Given the description of an element on the screen output the (x, y) to click on. 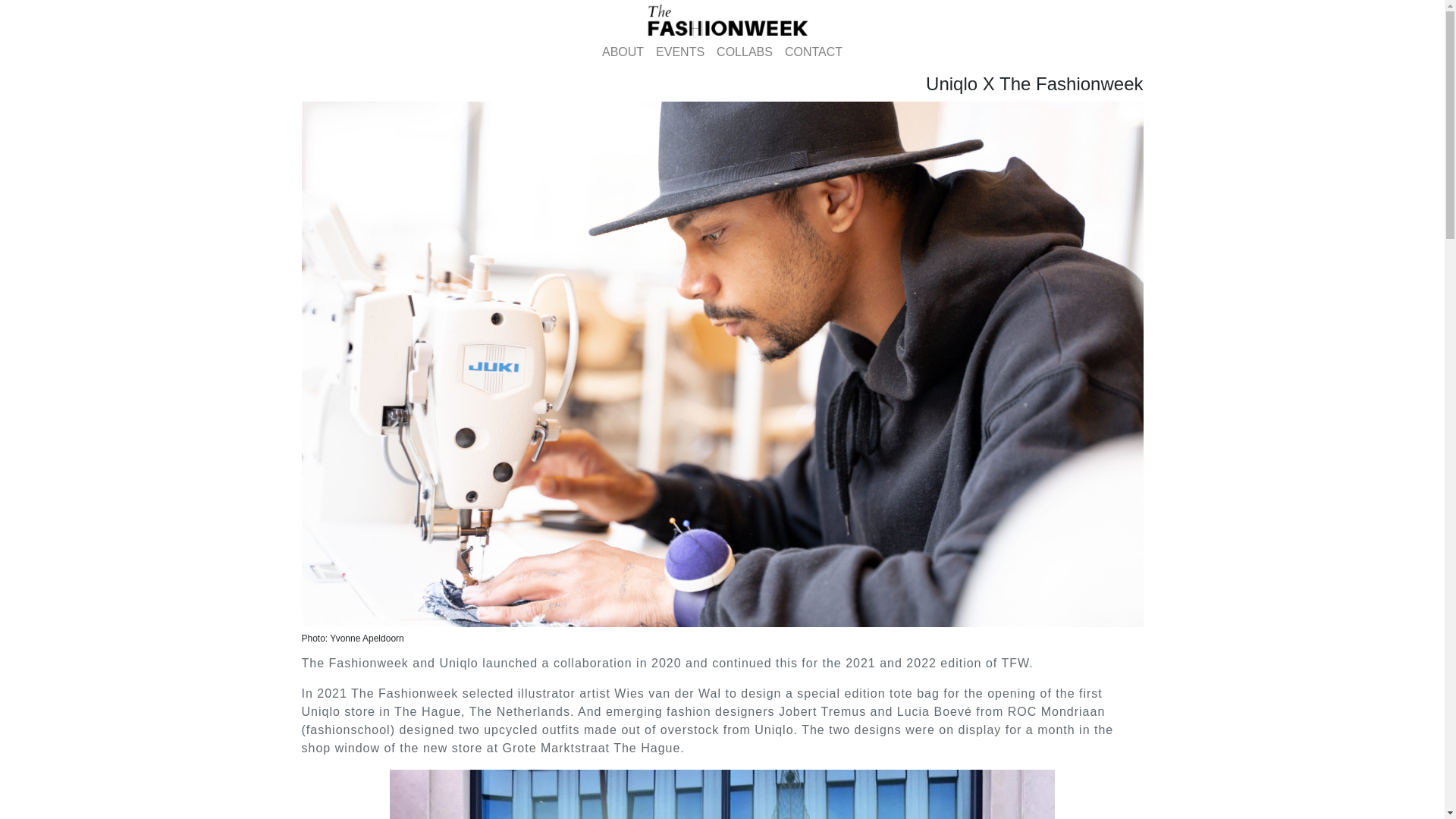
ABOUT (622, 51)
CONTACT (813, 51)
EVENTS (679, 51)
COLLABS (744, 51)
